Given the description of an element on the screen output the (x, y) to click on. 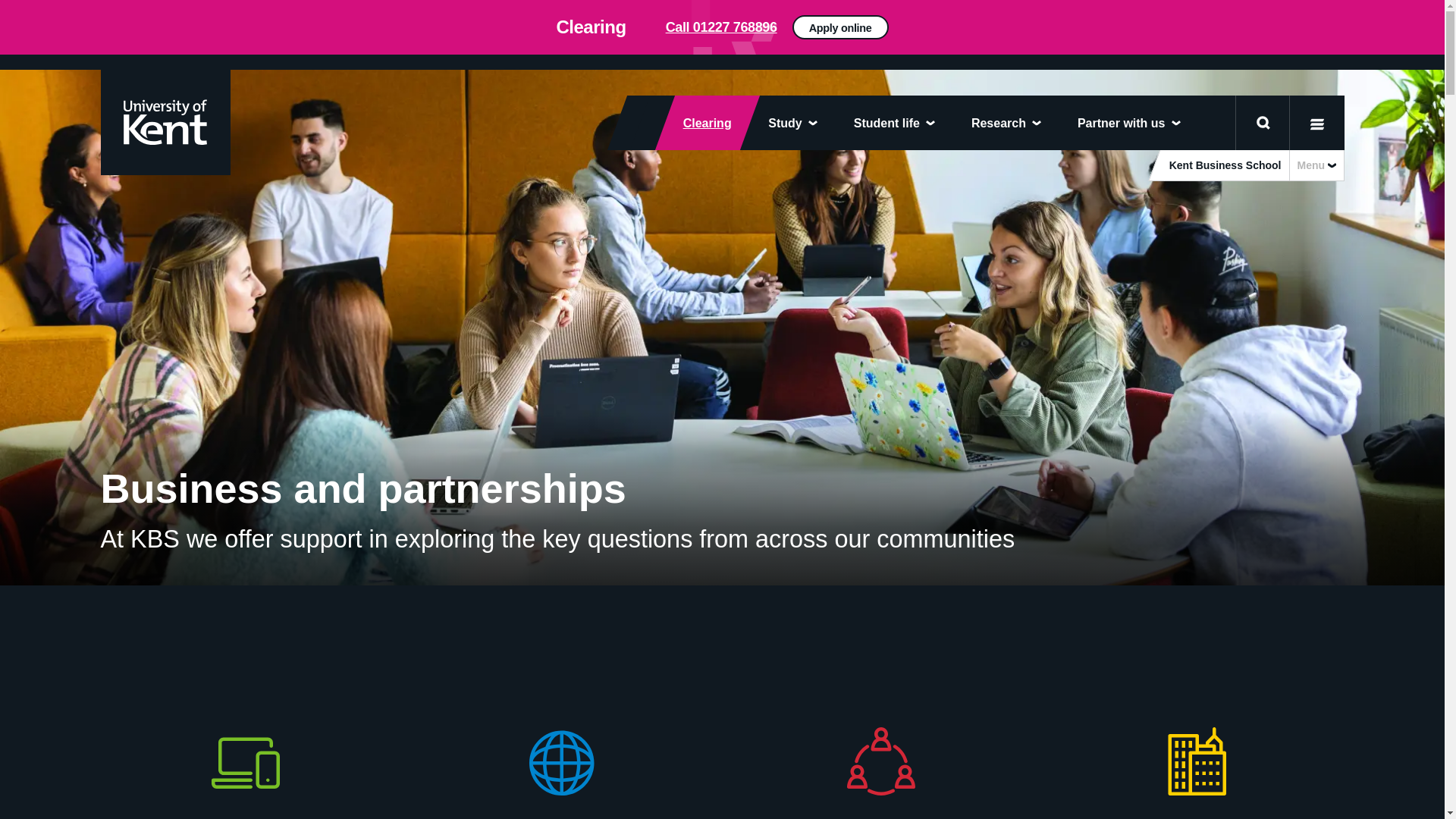
Clearing (697, 122)
Apply online (1050, 33)
Call 01227 768896 (721, 27)
Study (791, 122)
University of Kent logo (164, 121)
design2 (721, 27)
